Given the description of an element on the screen output the (x, y) to click on. 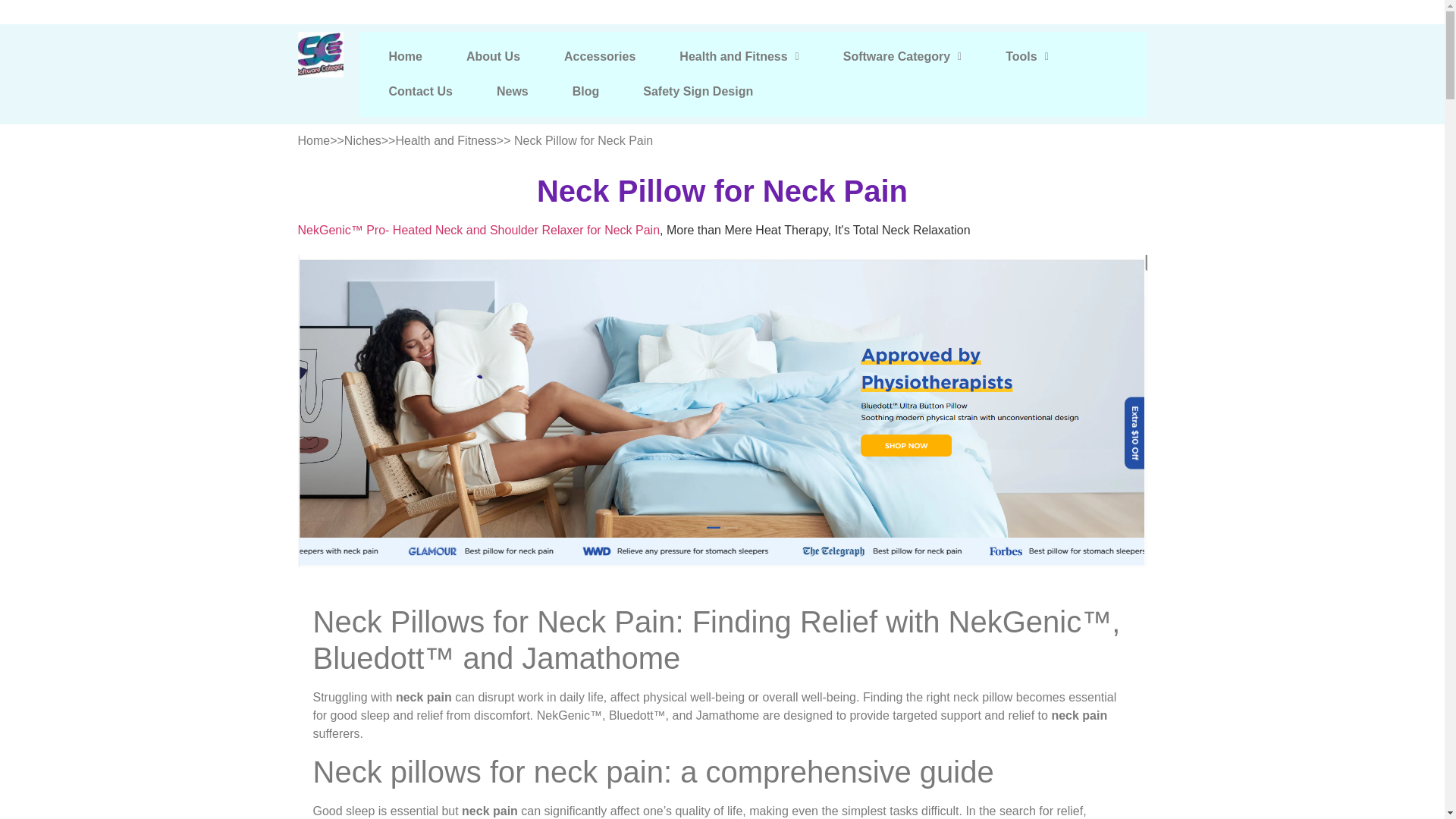
Tools (1027, 56)
Software Category (902, 56)
News (512, 91)
softwarecategory-logo (320, 53)
Health and Fitness (739, 56)
About Us (492, 56)
Contact Us (420, 91)
Safety Sign Design (697, 91)
Accessories (599, 56)
Home (405, 56)
Blog (585, 91)
